Given the description of an element on the screen output the (x, y) to click on. 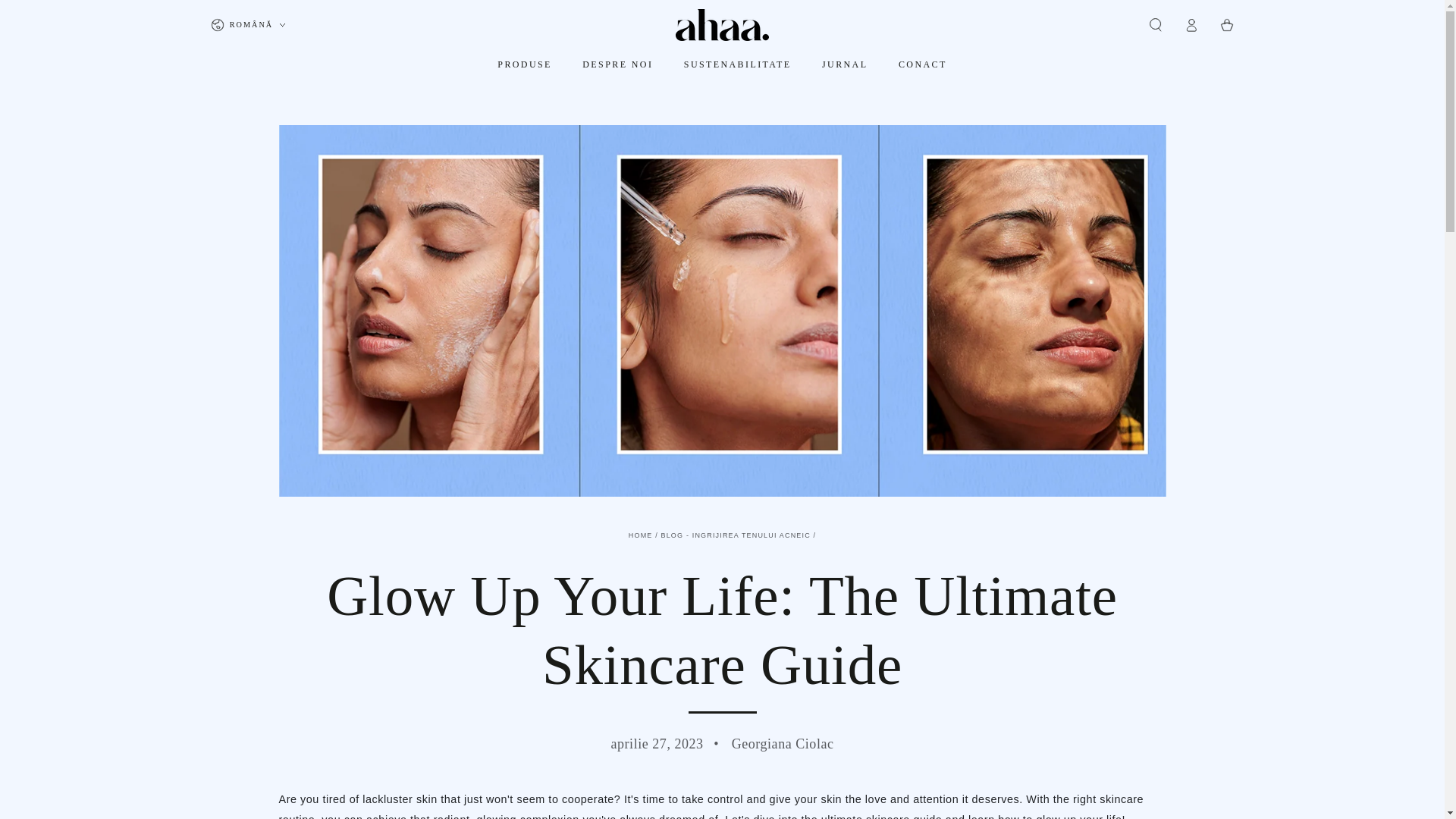
CONACT (922, 64)
PRODUSE (524, 64)
DESPRE NOI (617, 64)
SKIP TO CONTENT (61, 13)
Back to the frontpage (640, 534)
SUSTENABILITATE (737, 64)
JURNAL (844, 64)
